Given the description of an element on the screen output the (x, y) to click on. 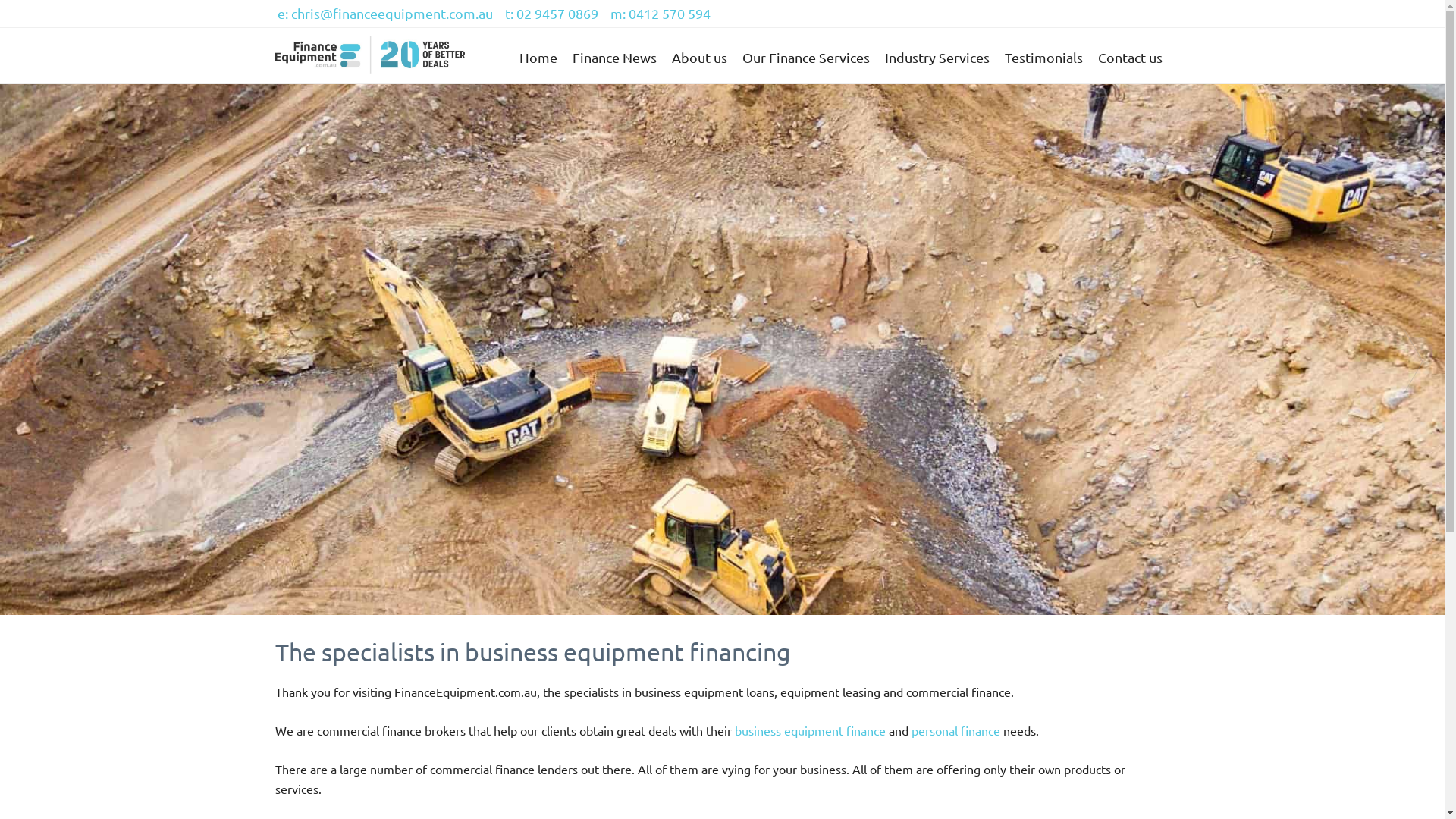
business equipment finance Element type: text (809, 729)
m: 0412 570 594 Element type: text (663, 13)
Our Finance Services Element type: text (805, 57)
Contact us Element type: text (1130, 57)
About us Element type: text (699, 57)
Home Element type: text (537, 57)
Testimonials Element type: text (1042, 57)
personal finance Element type: text (955, 729)
t: 02 9457 0869 Element type: text (553, 13)
e: chris@financeequipment.com.au Element type: text (386, 13)
Finance News Element type: text (613, 57)
Industry Services Element type: text (936, 57)
